Given the description of an element on the screen output the (x, y) to click on. 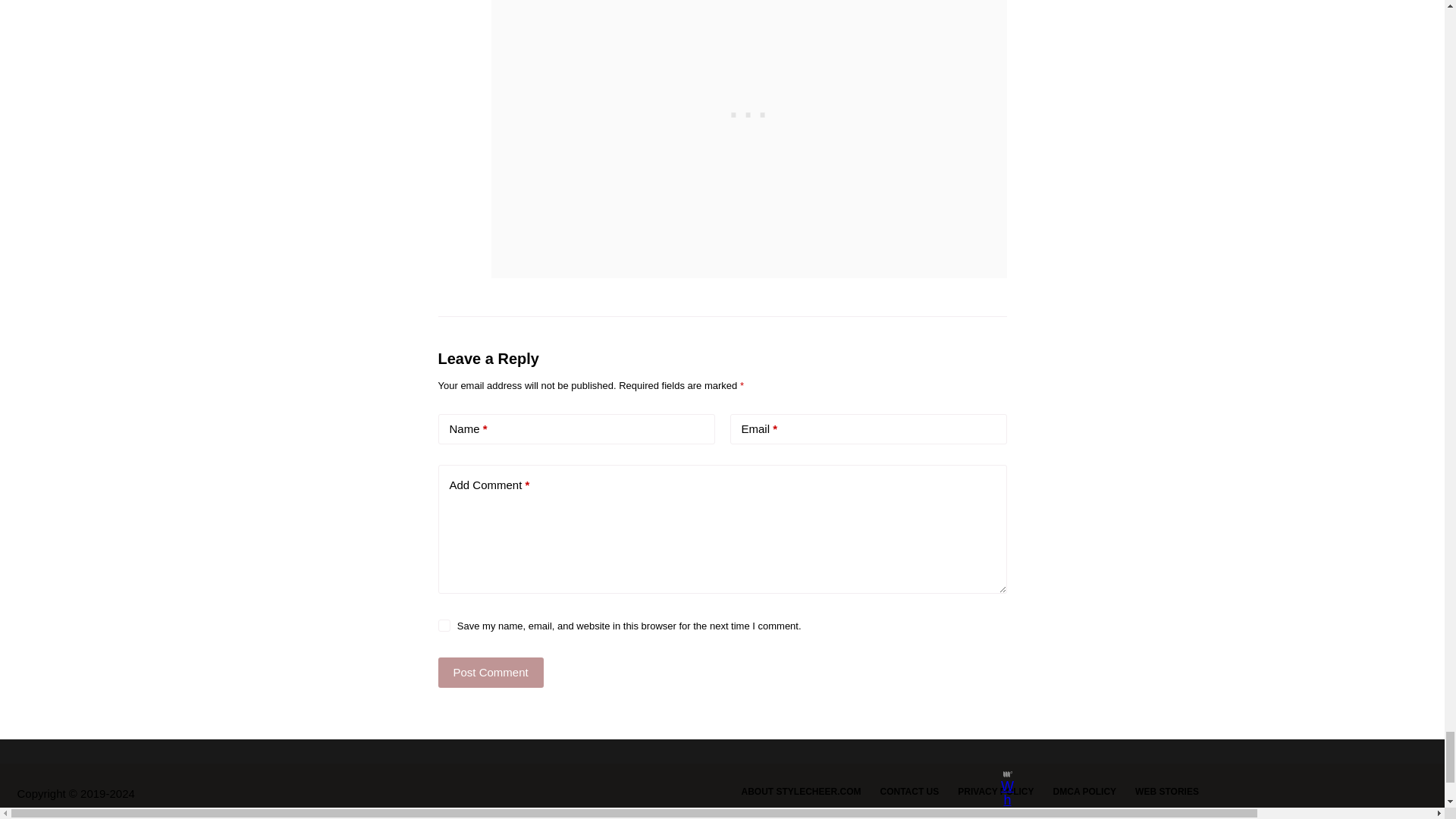
yes (443, 625)
